Given the description of an element on the screen output the (x, y) to click on. 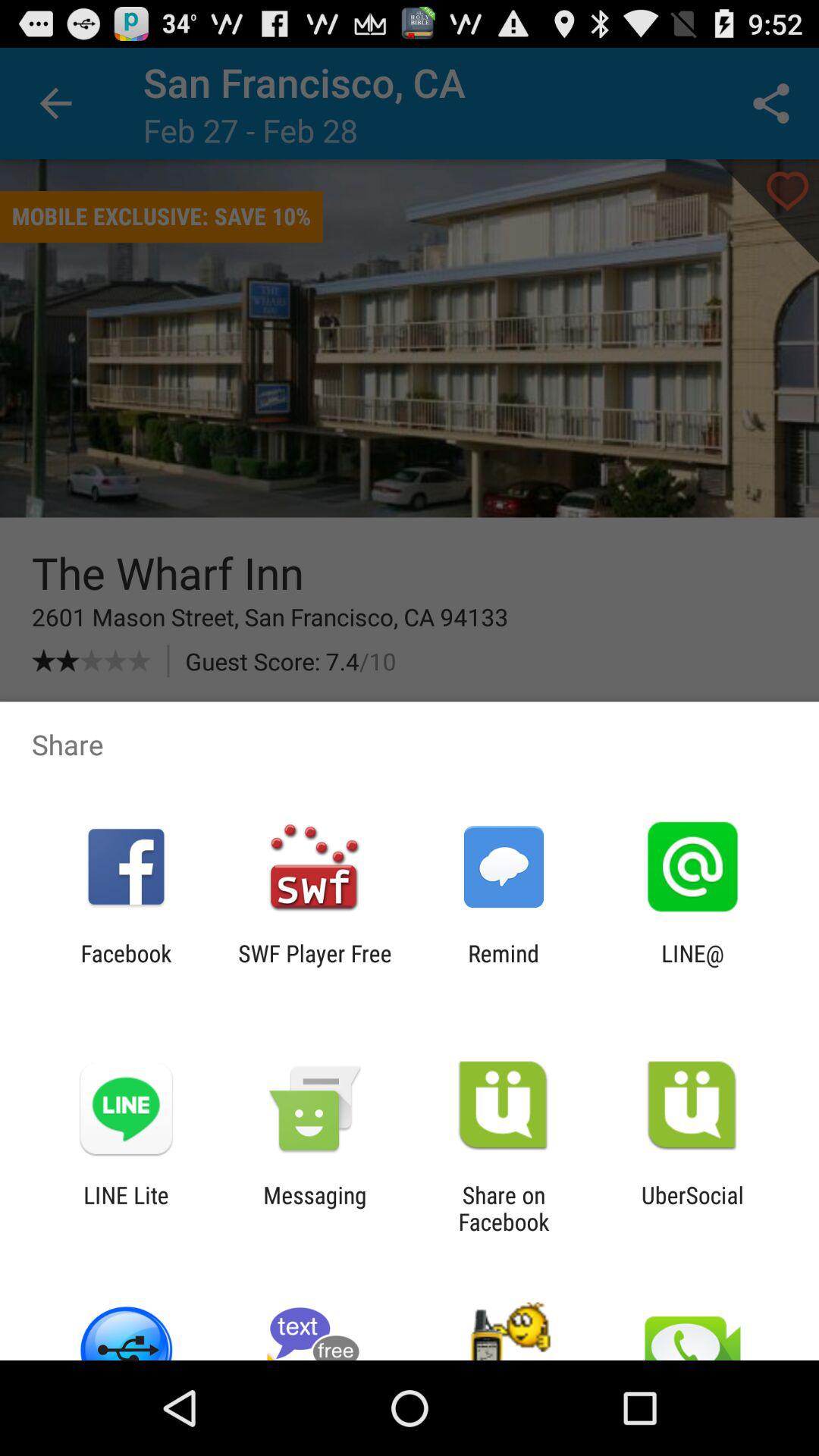
scroll until the messaging icon (314, 1208)
